Given the description of an element on the screen output the (x, y) to click on. 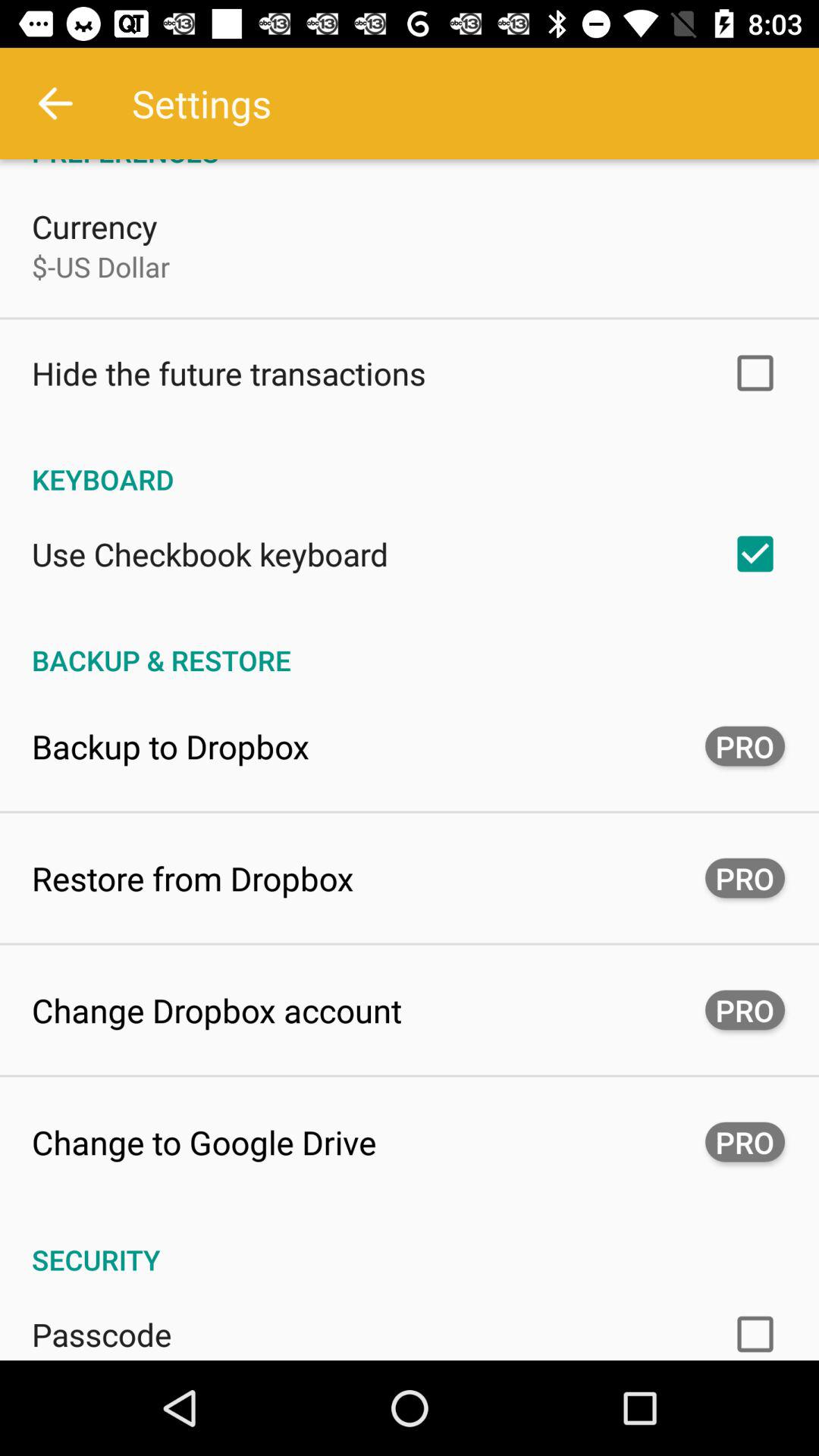
choose the item above keyboard icon (228, 372)
